Given the description of an element on the screen output the (x, y) to click on. 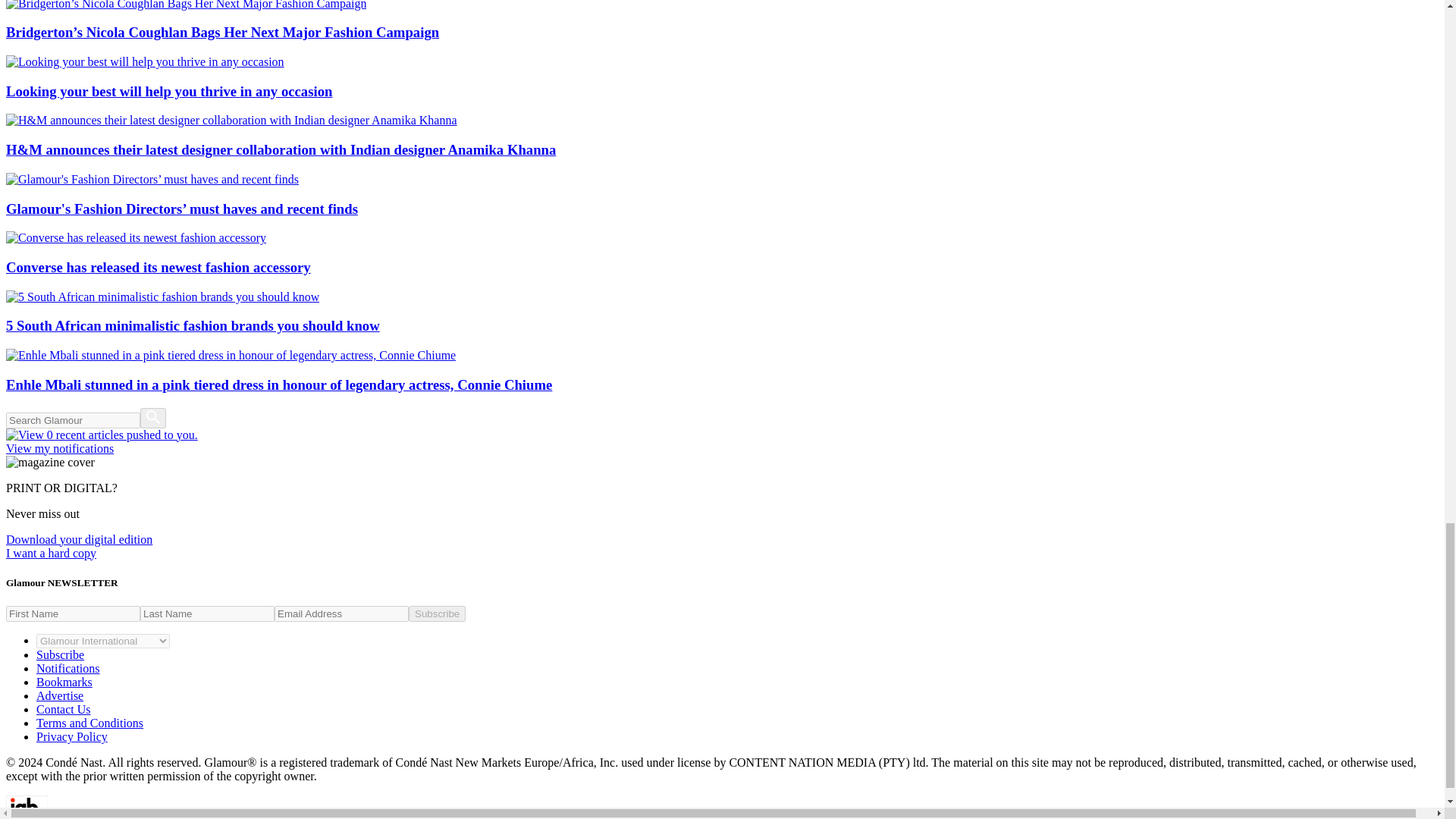
Contact Us (63, 708)
Looking your best will help you thrive in any occasion (721, 77)
Bookmarks (64, 681)
Advertise (59, 695)
5 South African minimalistic fashion brands you should know (721, 312)
Download your digital edition (78, 539)
Subscribe (437, 613)
Subscribe (60, 654)
Converse has released its newest fashion accessory (721, 253)
View my notifications (721, 441)
